Given the description of an element on the screen output the (x, y) to click on. 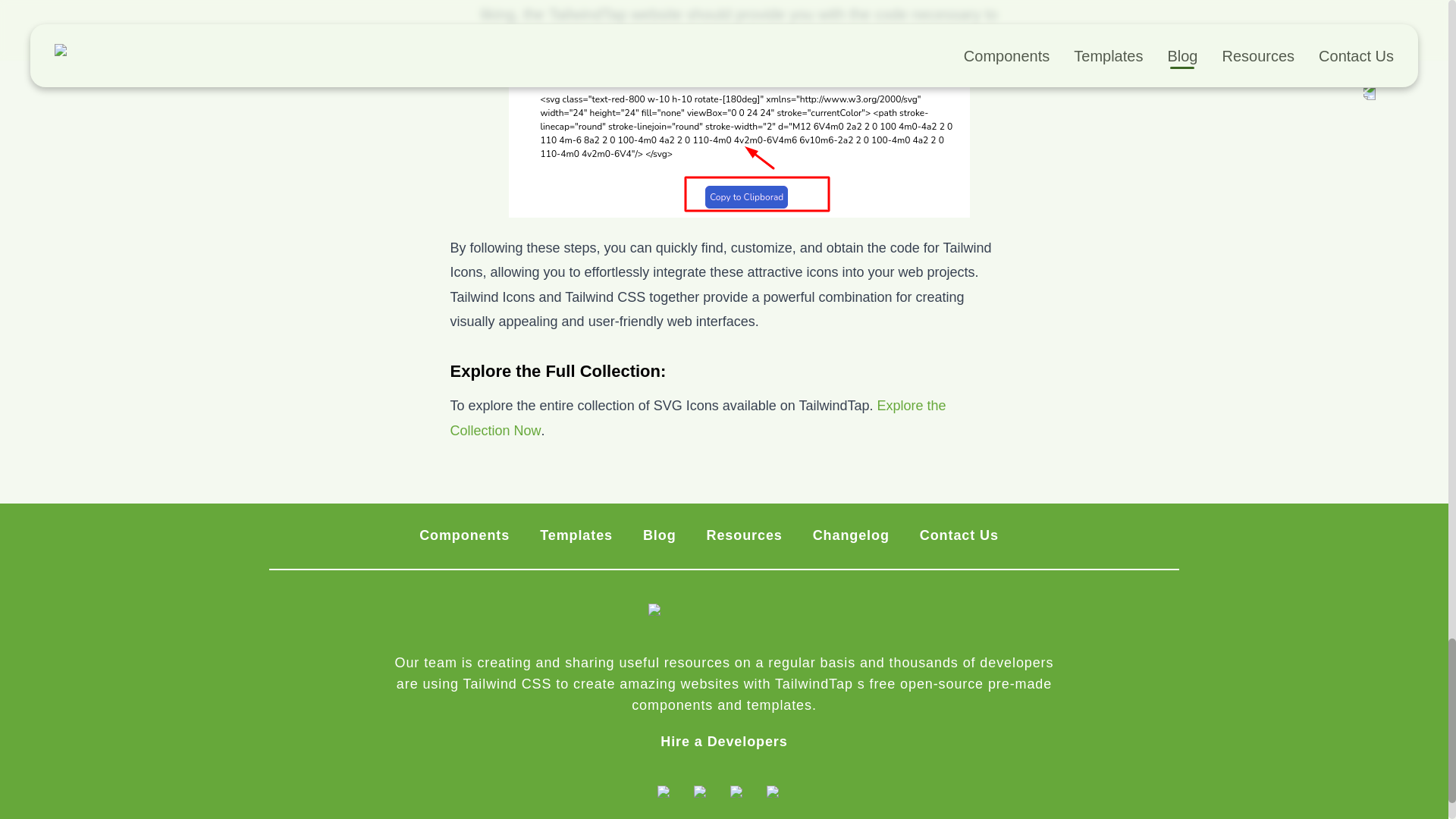
Components (464, 535)
Changelog (850, 535)
Explore Tailwind SVG Icons (697, 417)
Contact Us (959, 535)
Resources (744, 535)
Hire a Developers (724, 741)
Tailwind UI Icons (738, 149)
Explore the Collection Now (697, 417)
Templates (576, 535)
Blog (660, 535)
